Given the description of an element on the screen output the (x, y) to click on. 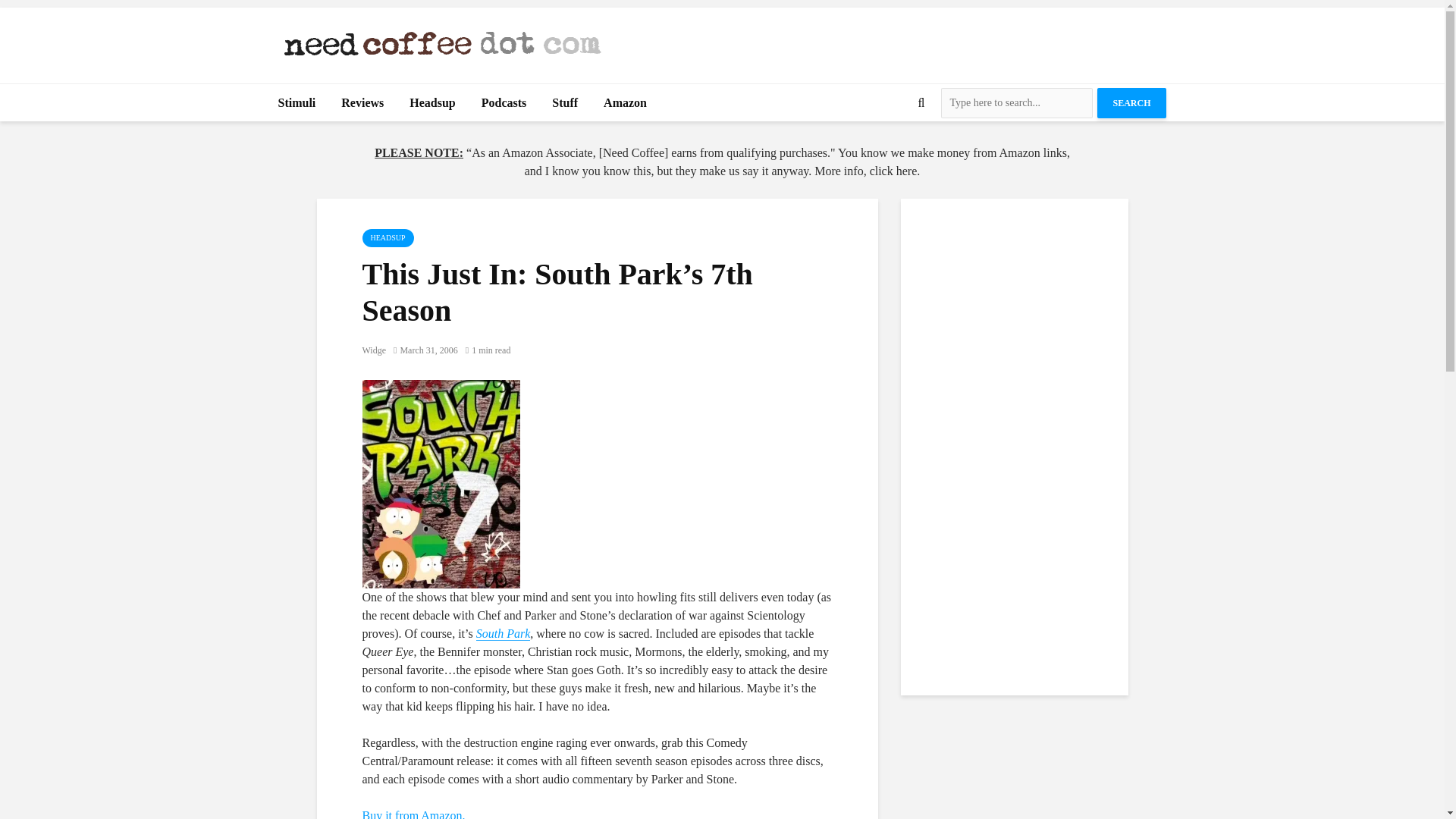
Widge (374, 349)
Headsup (431, 103)
Buy it from Amazon. (413, 814)
Reviews (362, 103)
HEADSUP (387, 238)
Stuff (564, 103)
SEARCH (1131, 102)
Amazon (625, 103)
South Park (503, 633)
Advertisement (890, 41)
